Given the description of an element on the screen output the (x, y) to click on. 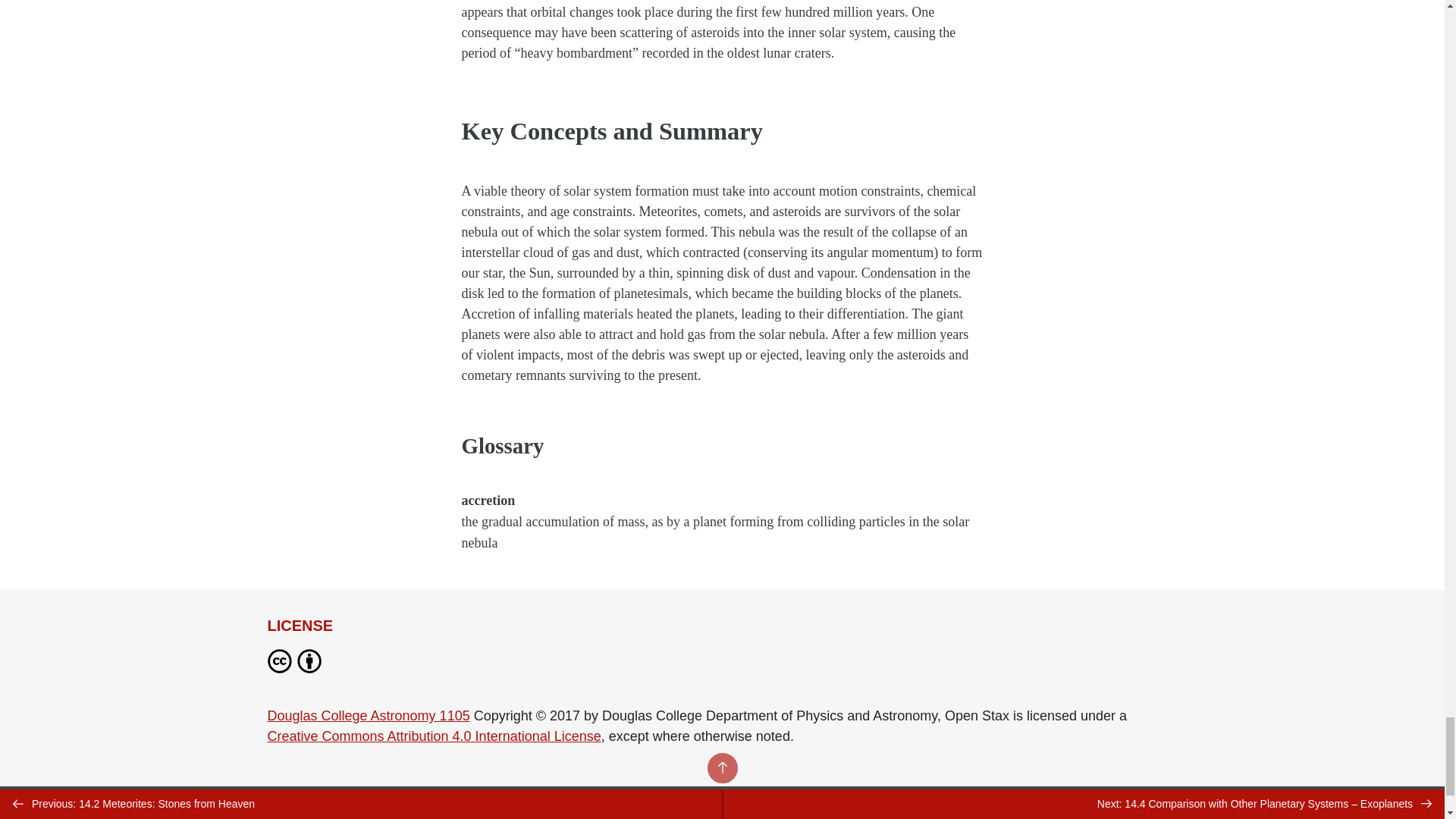
Creative Commons Attribution 4.0 International License (432, 735)
Douglas College Astronomy 1105 (367, 715)
